Given the description of an element on the screen output the (x, y) to click on. 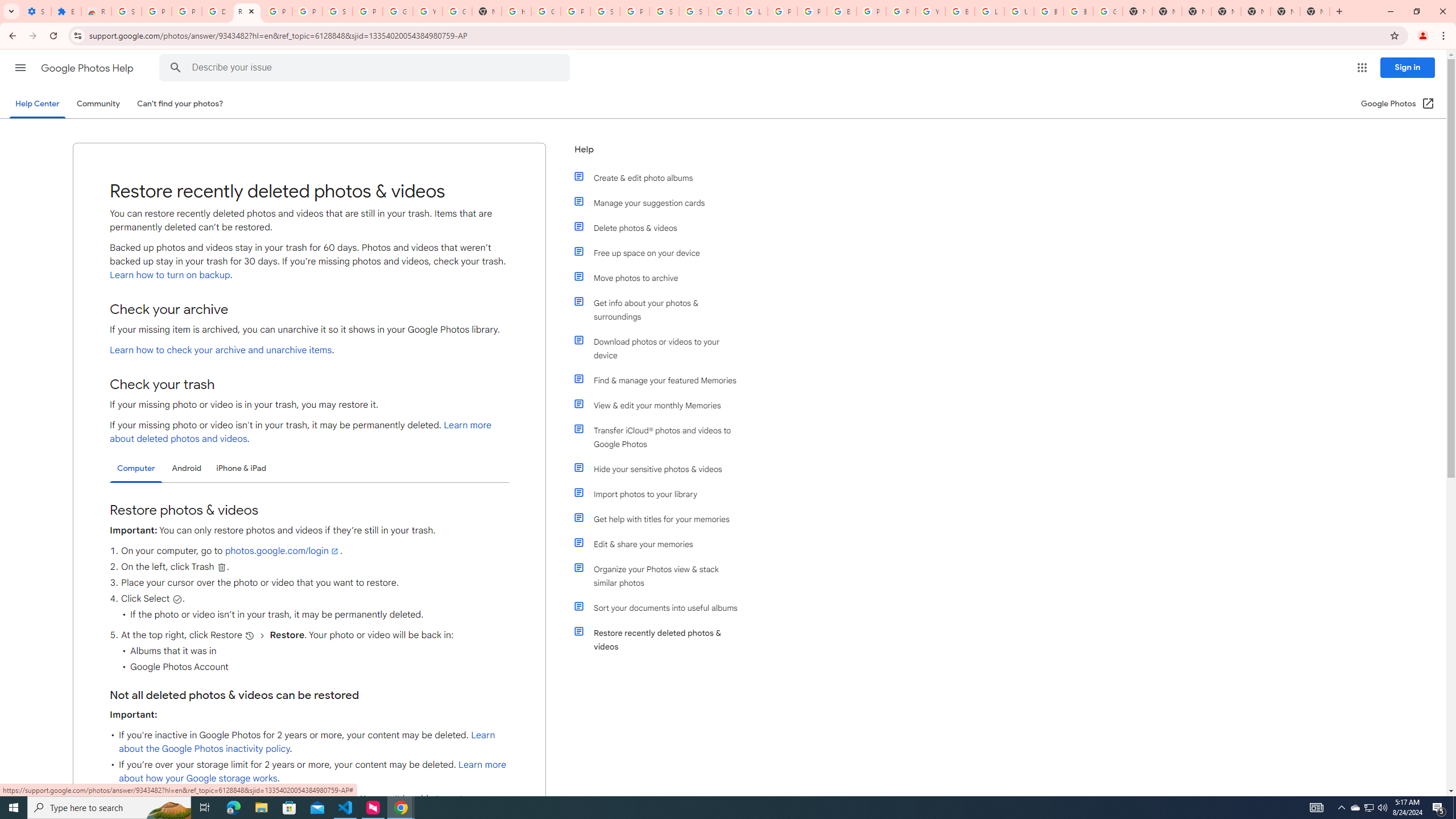
Privacy Help Center - Policies Help (782, 11)
Delete photos & videos (661, 227)
Reviews: Helix Fruit Jump Arcade Game (95, 11)
and then (262, 635)
Restore recently deleted photos & videos (661, 639)
New Tab (1314, 11)
Privacy Help Center - Policies Help (811, 11)
YouTube (930, 11)
Download photos or videos to your device (661, 348)
Delete photos & videos - Computer - Google Photos Help (216, 11)
Sort your documents into useful albums (661, 607)
Extensions (65, 11)
